Given the description of an element on the screen output the (x, y) to click on. 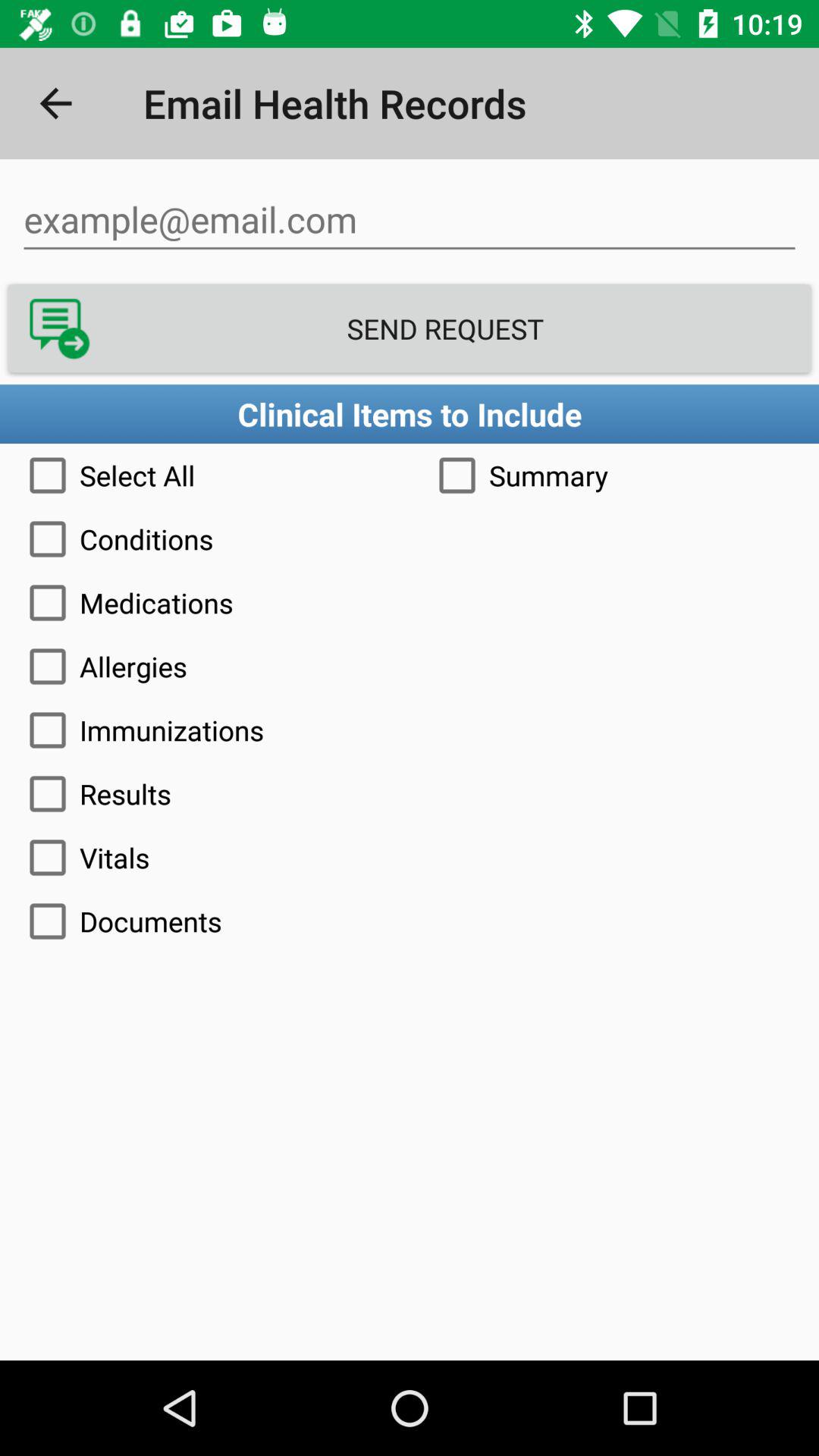
open the conditions icon (409, 539)
